Given the description of an element on the screen output the (x, y) to click on. 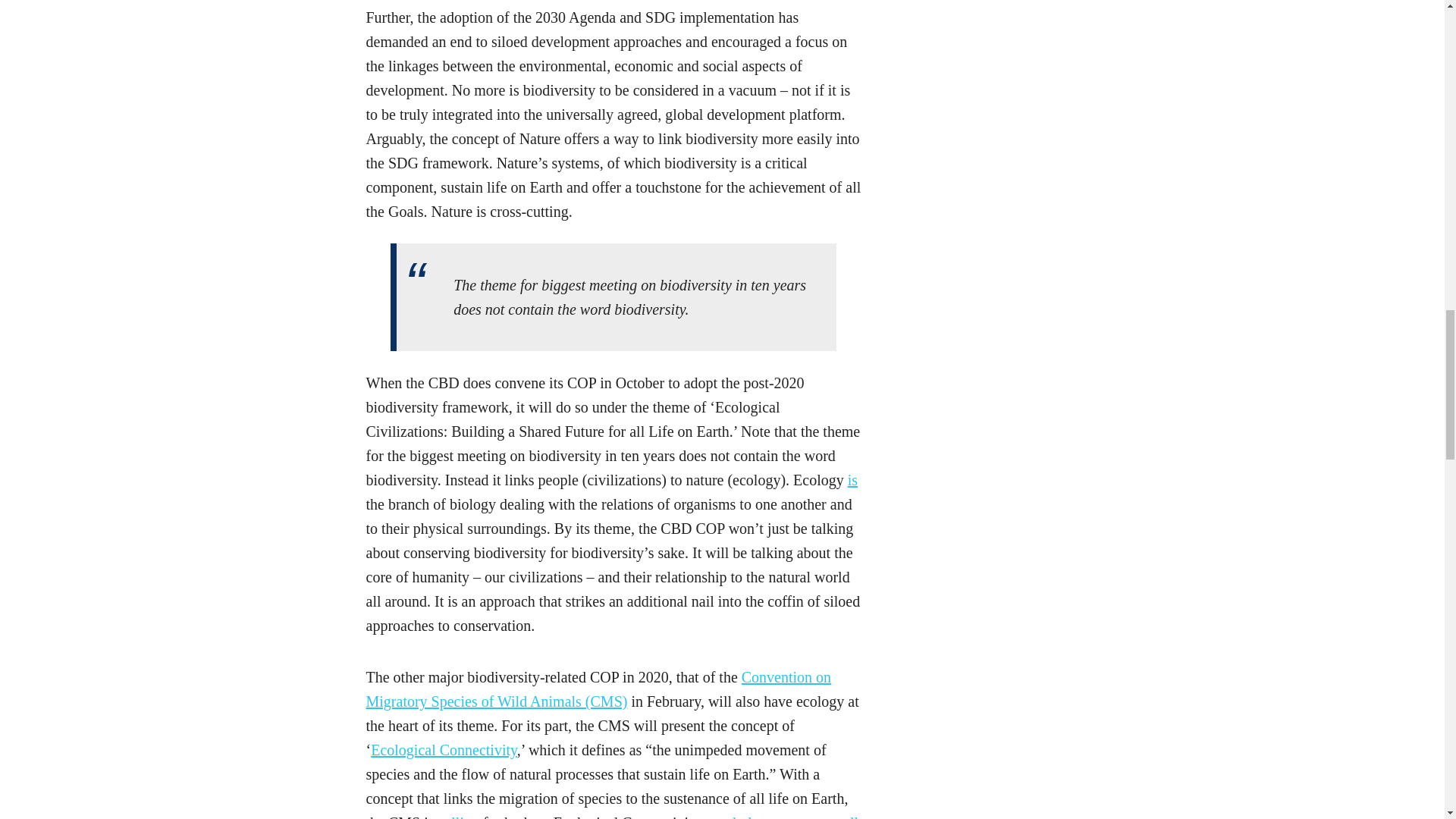
Ecological Connectivity (443, 750)
calling (458, 816)
